Given the description of an element on the screen output the (x, y) to click on. 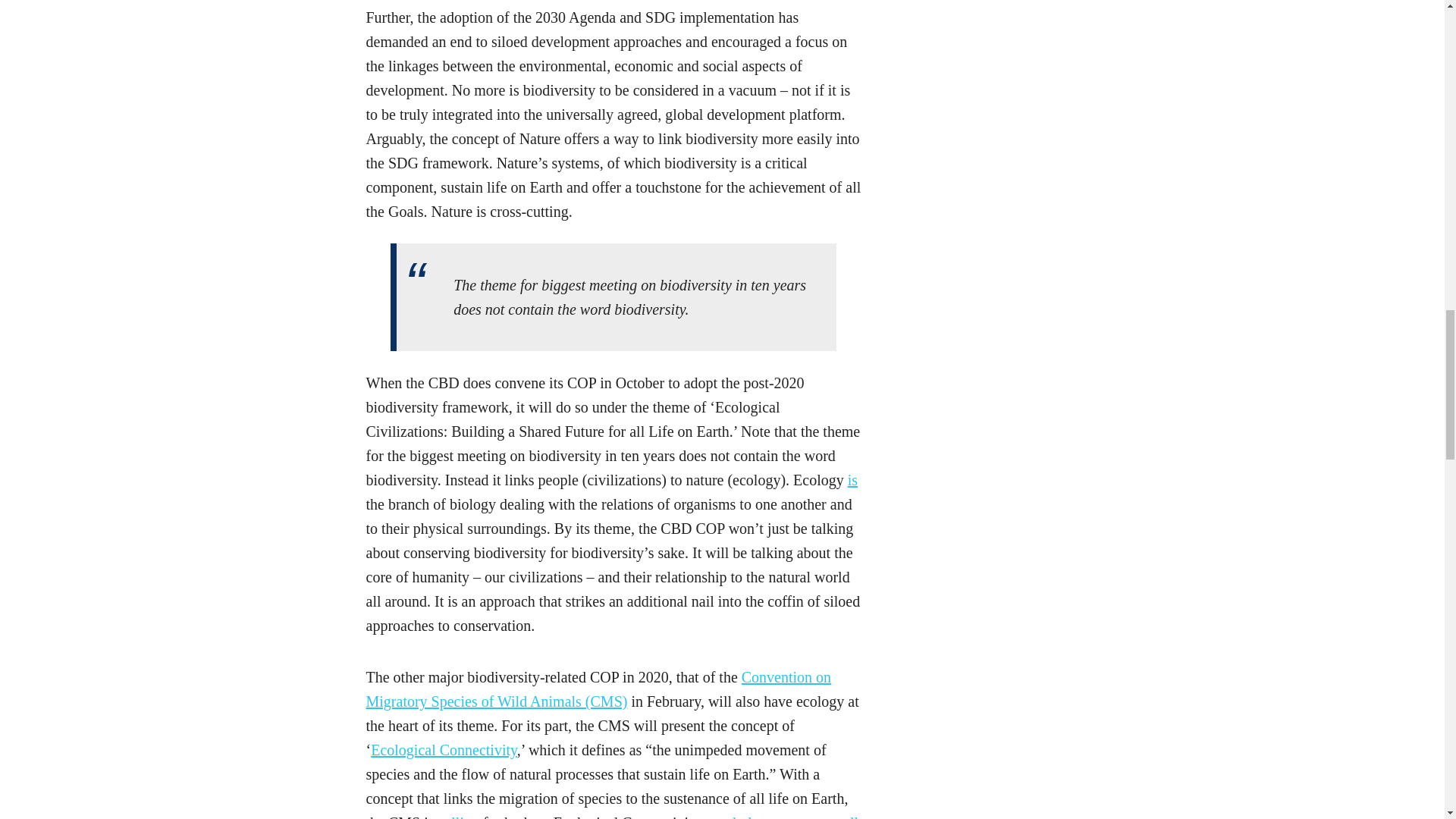
Ecological Connectivity (443, 750)
calling (458, 816)
